Given the description of an element on the screen output the (x, y) to click on. 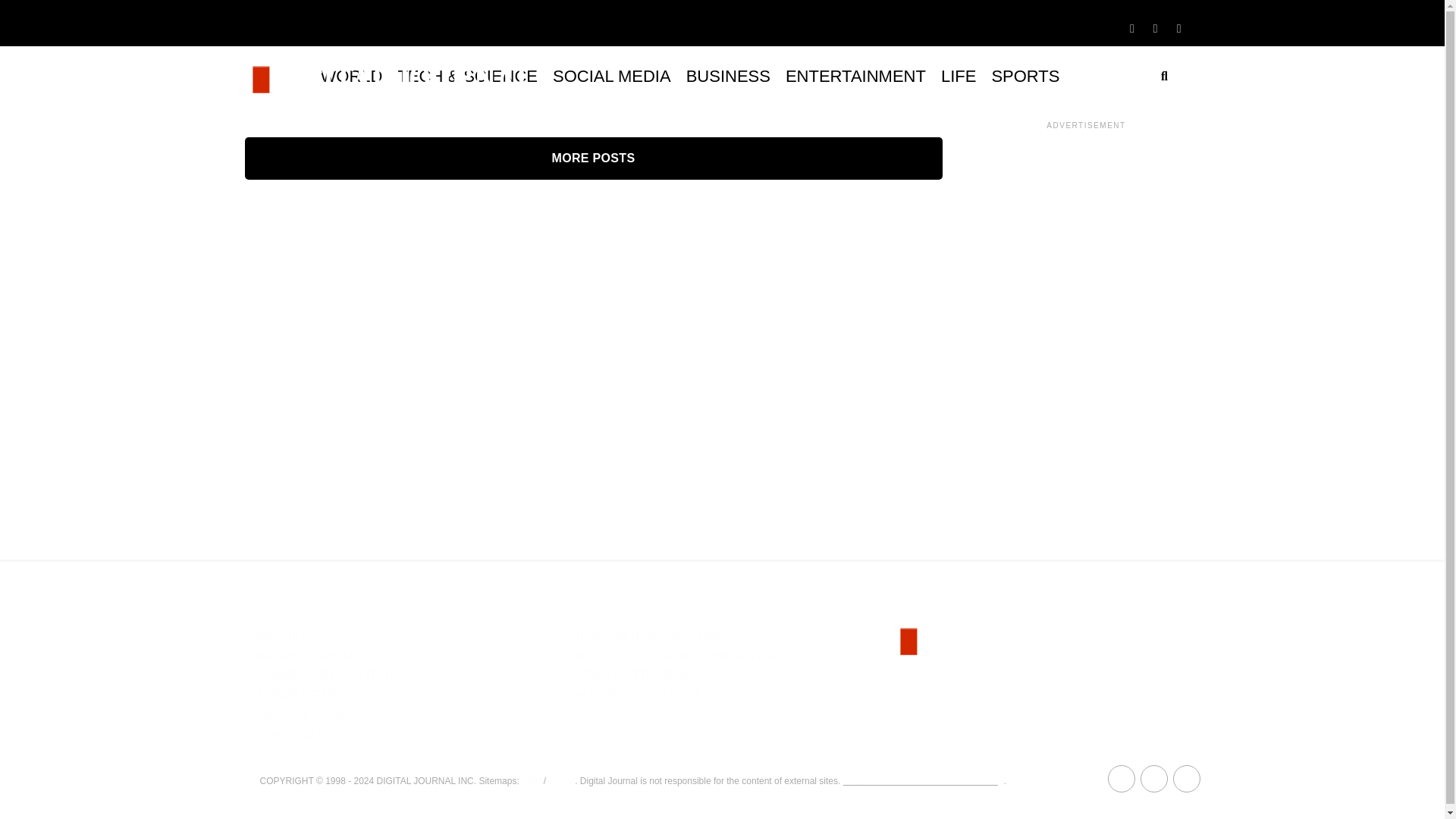
BUSINESS (727, 76)
SOCIAL MEDIA (611, 76)
NEWS PARTNER: AFP (638, 675)
XML (530, 779)
CONTACT US (295, 734)
PRIVACY POLICY (307, 714)
INSIGHT FORUM (304, 655)
WORLD (351, 76)
Read more about our external linking (923, 779)
ENTERTAINMENT (855, 76)
SPORTS (1025, 76)
News (560, 779)
FEATURED: PRODIGY PRESS WIRE (677, 655)
ABOUT US (288, 635)
TERMS OF USE (301, 694)
